Given the description of an element on the screen output the (x, y) to click on. 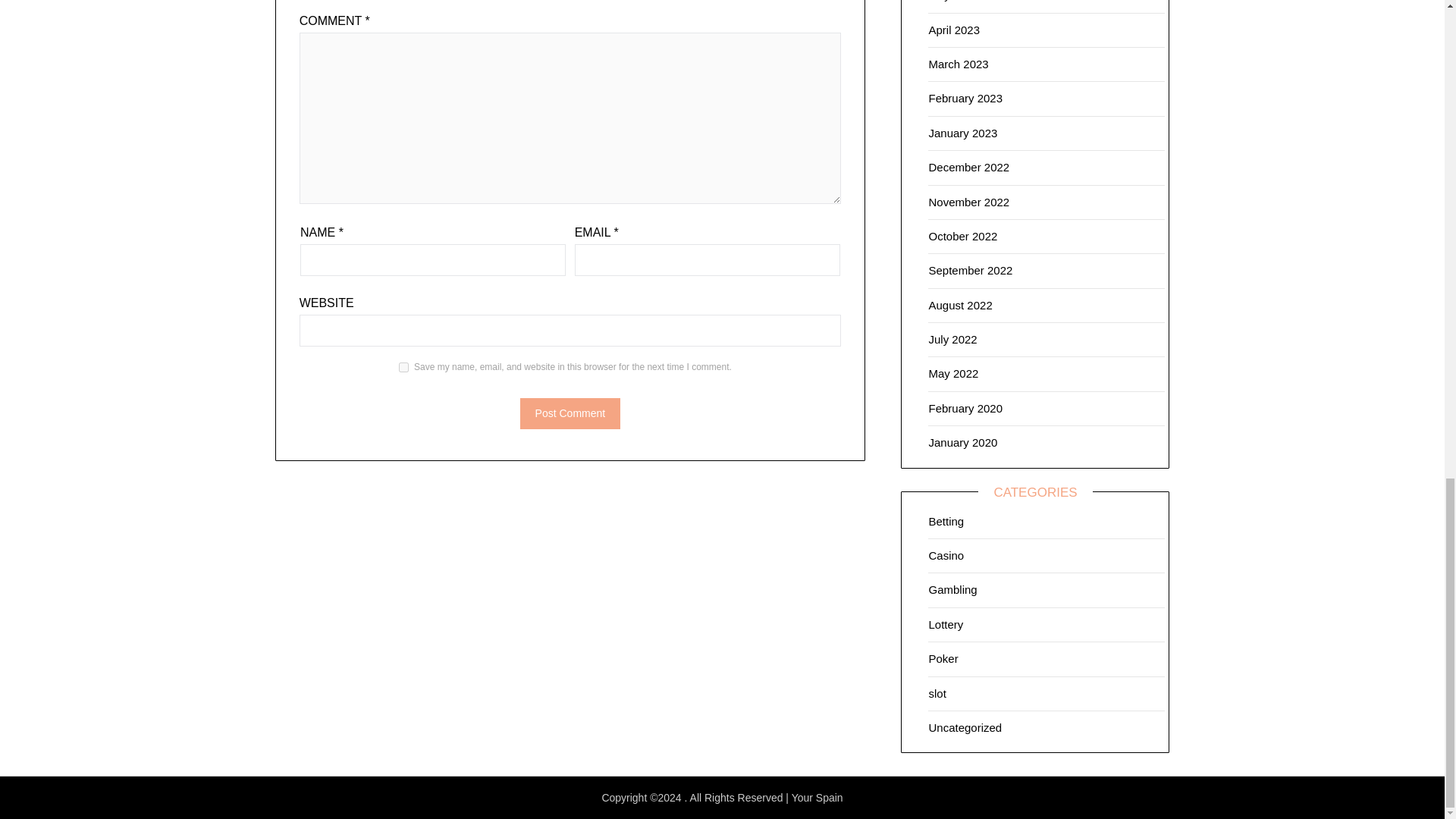
April 2023 (953, 29)
December 2022 (968, 166)
yes (403, 367)
February 2023 (965, 97)
October 2022 (962, 236)
March 2023 (958, 63)
May 2023 (953, 0)
Post Comment (570, 413)
Post Comment (570, 413)
November 2022 (968, 201)
